Given the description of an element on the screen output the (x, y) to click on. 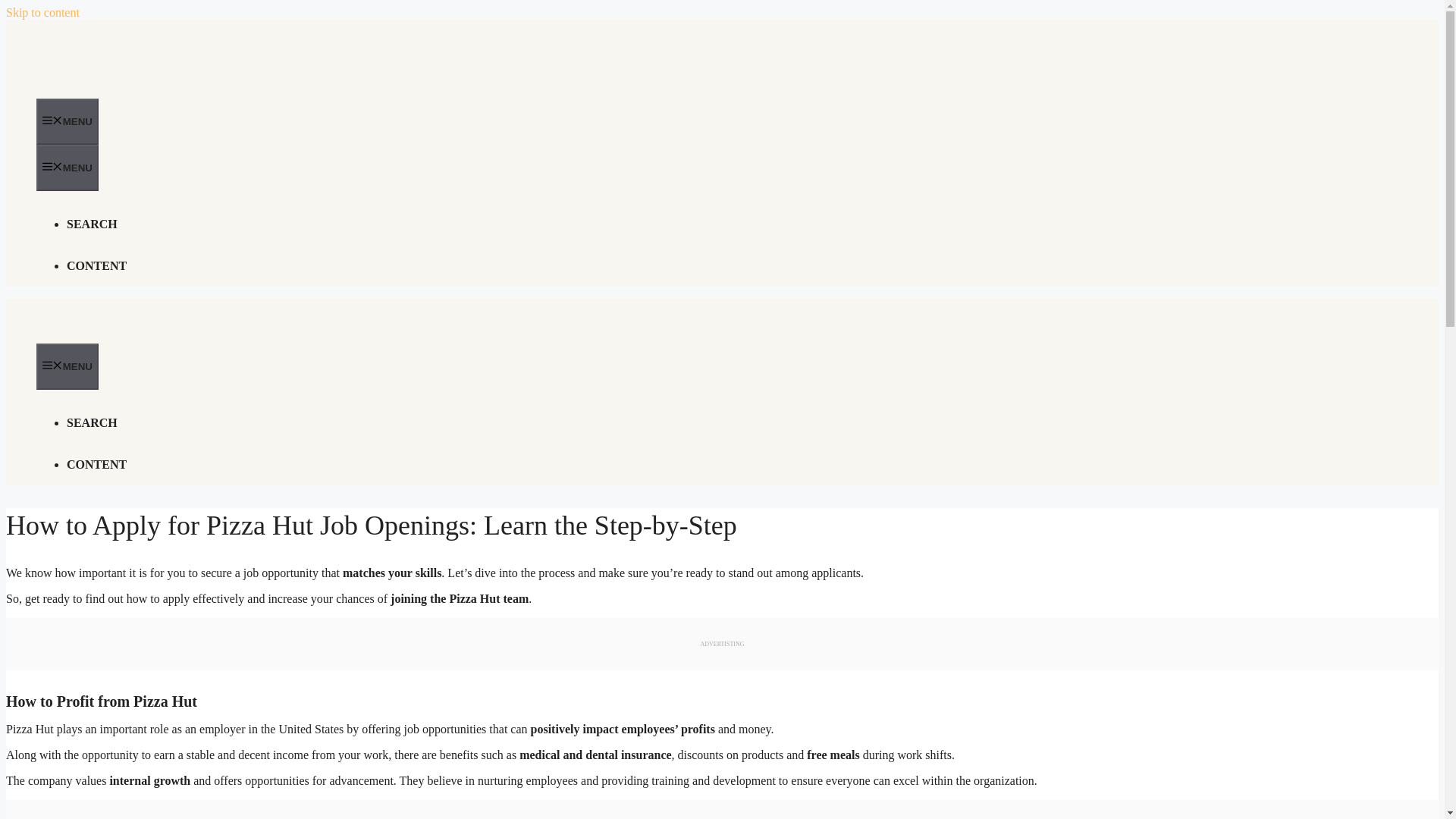
Skip to content (42, 11)
CONTENT (96, 463)
Kirmizioje.com (161, 336)
MENU (67, 366)
CONTENT (96, 265)
MENU (67, 167)
SEARCH (91, 223)
Skip to content (42, 11)
MENU (67, 121)
SEARCH (91, 422)
